Given the description of an element on the screen output the (x, y) to click on. 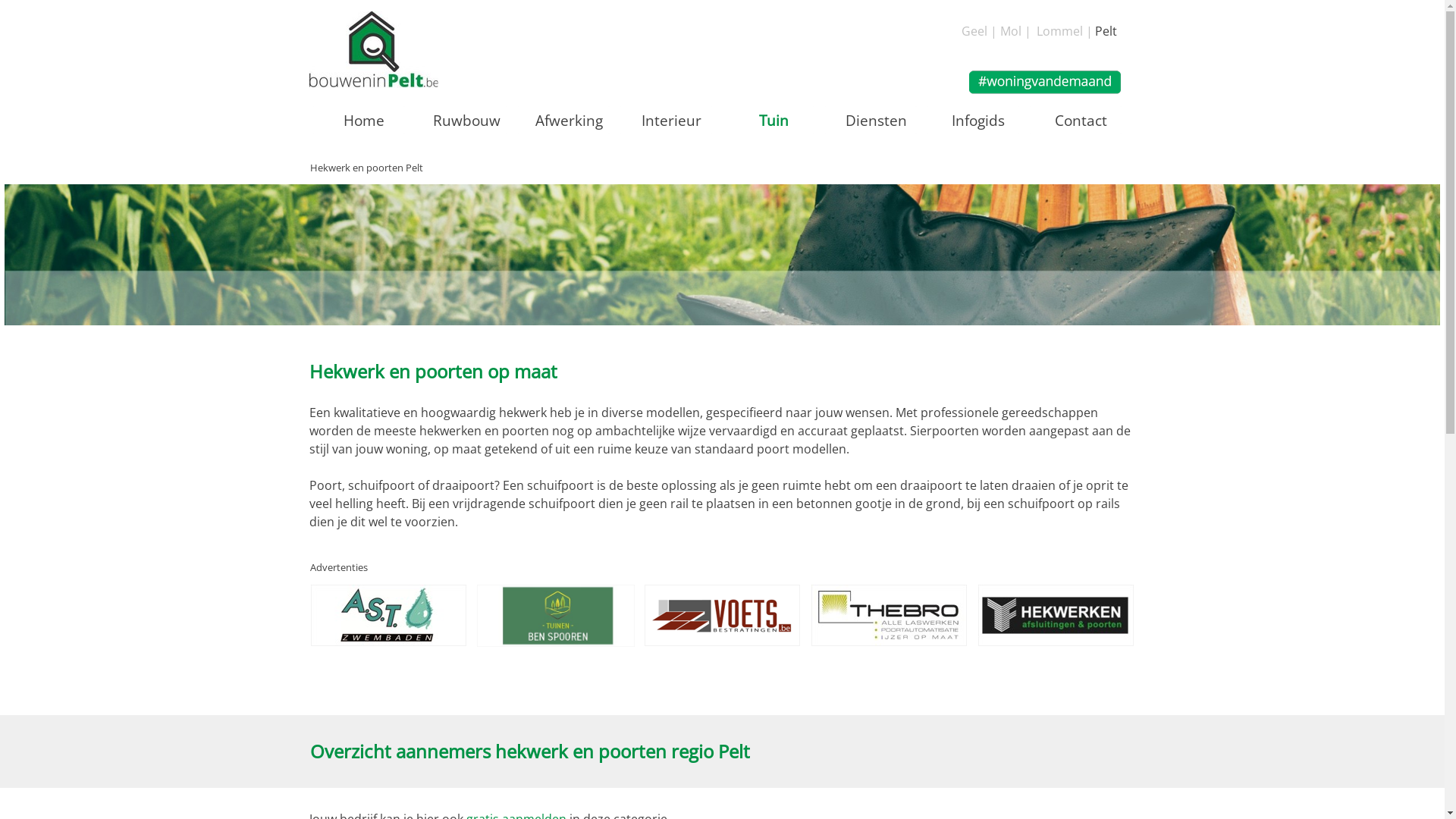
Lommel | Element type: text (1063, 30)
Geel | Element type: text (979, 30)
Home Element type: text (363, 120)
Mol | Element type: text (1014, 30)
